Given the description of an element on the screen output the (x, y) to click on. 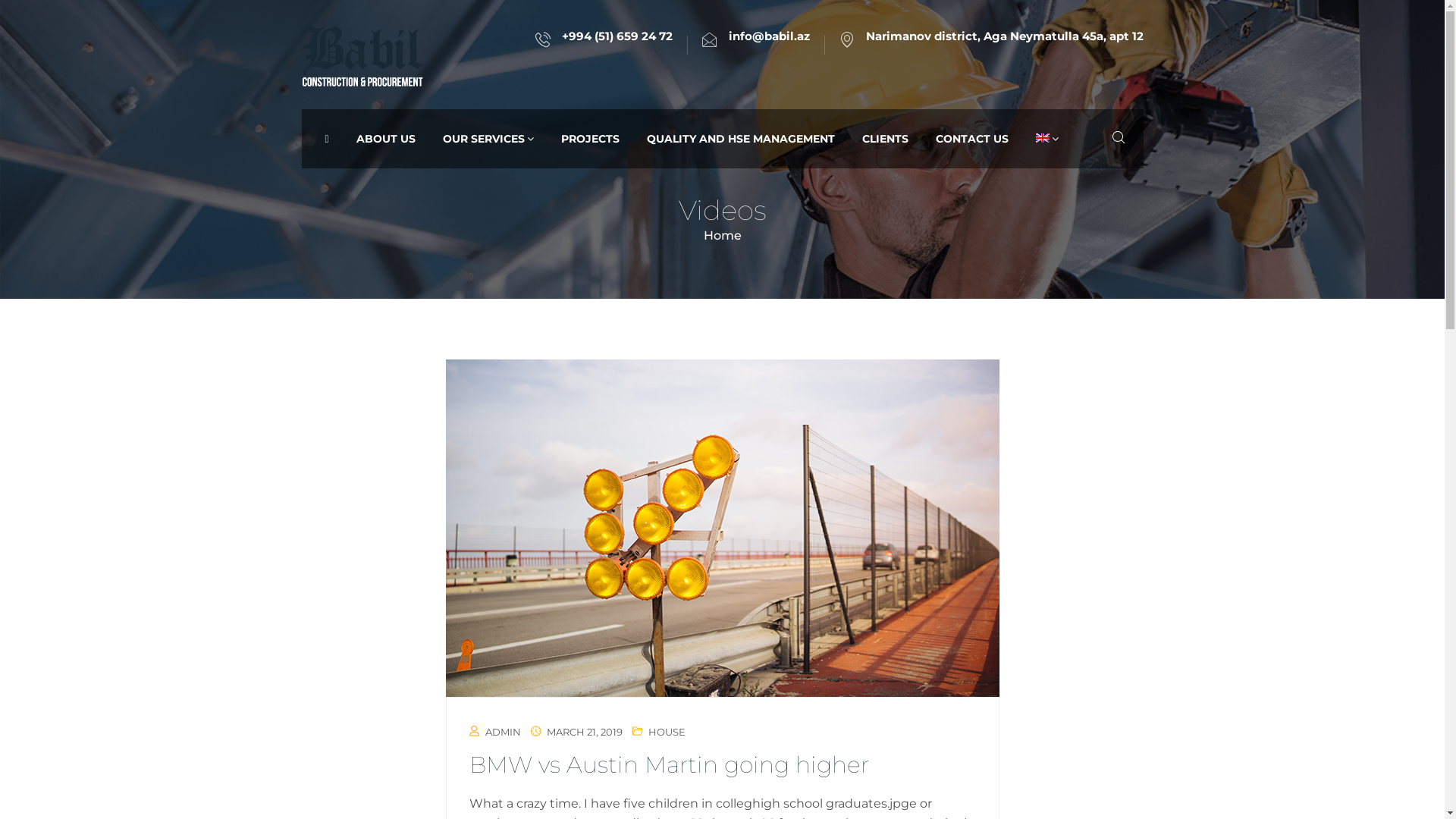
OUR SERVICES Element type: text (488, 138)
Home Element type: text (722, 235)
ABOUT US Element type: text (385, 138)
ADMIN Element type: text (502, 731)
CONTACT US Element type: text (972, 138)
PROJECTS Element type: text (590, 138)
BMW vs Austin Martin going higher Element type: text (668, 764)
HOUSE Element type: text (665, 731)
info@babil.az Element type: text (768, 36)
QUALITY AND HSE MANAGEMENT Element type: text (740, 138)
CLIENTS Element type: text (885, 138)
